Given the description of an element on the screen output the (x, y) to click on. 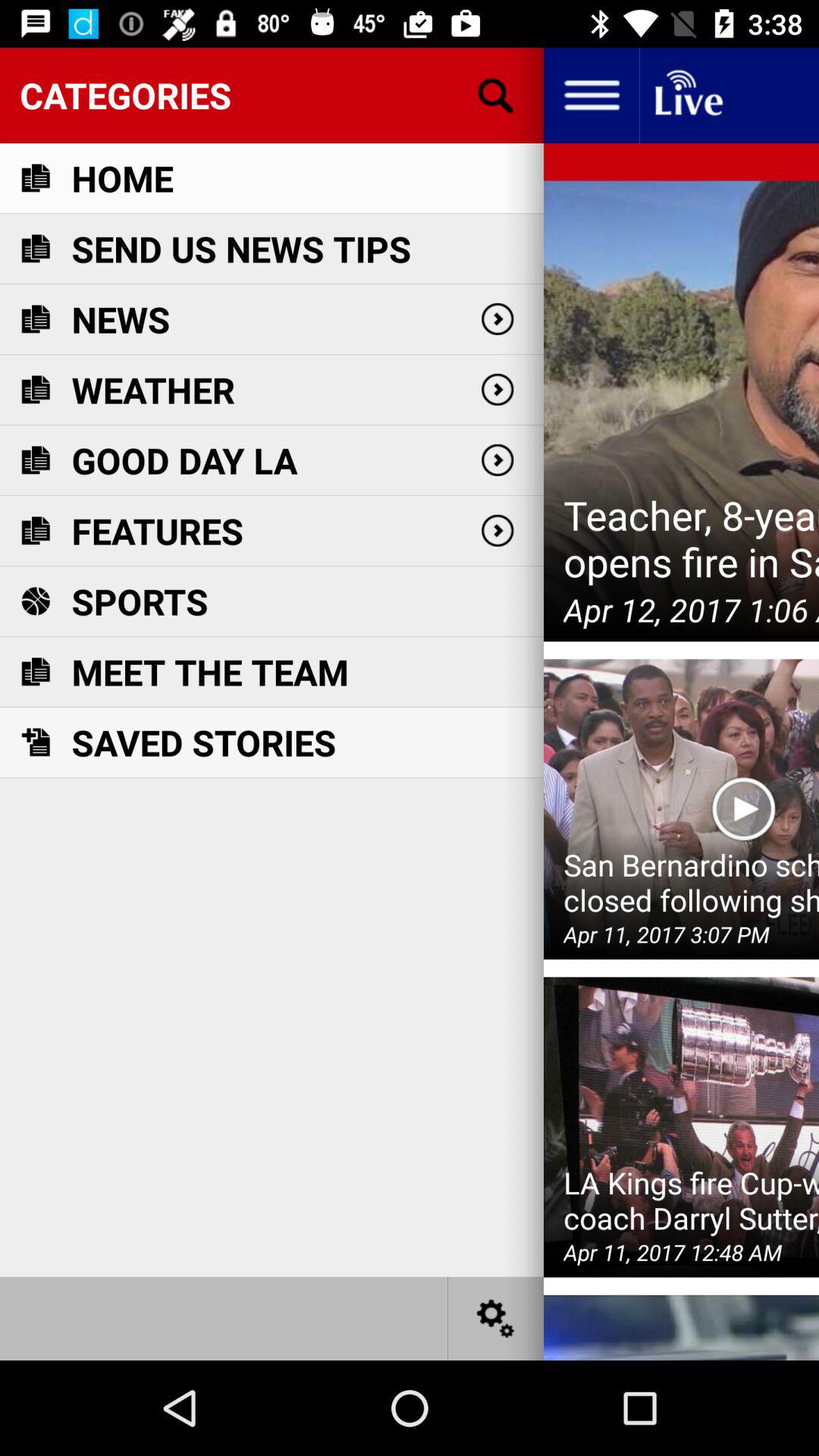
live stream current news events (687, 95)
